Given the description of an element on the screen output the (x, y) to click on. 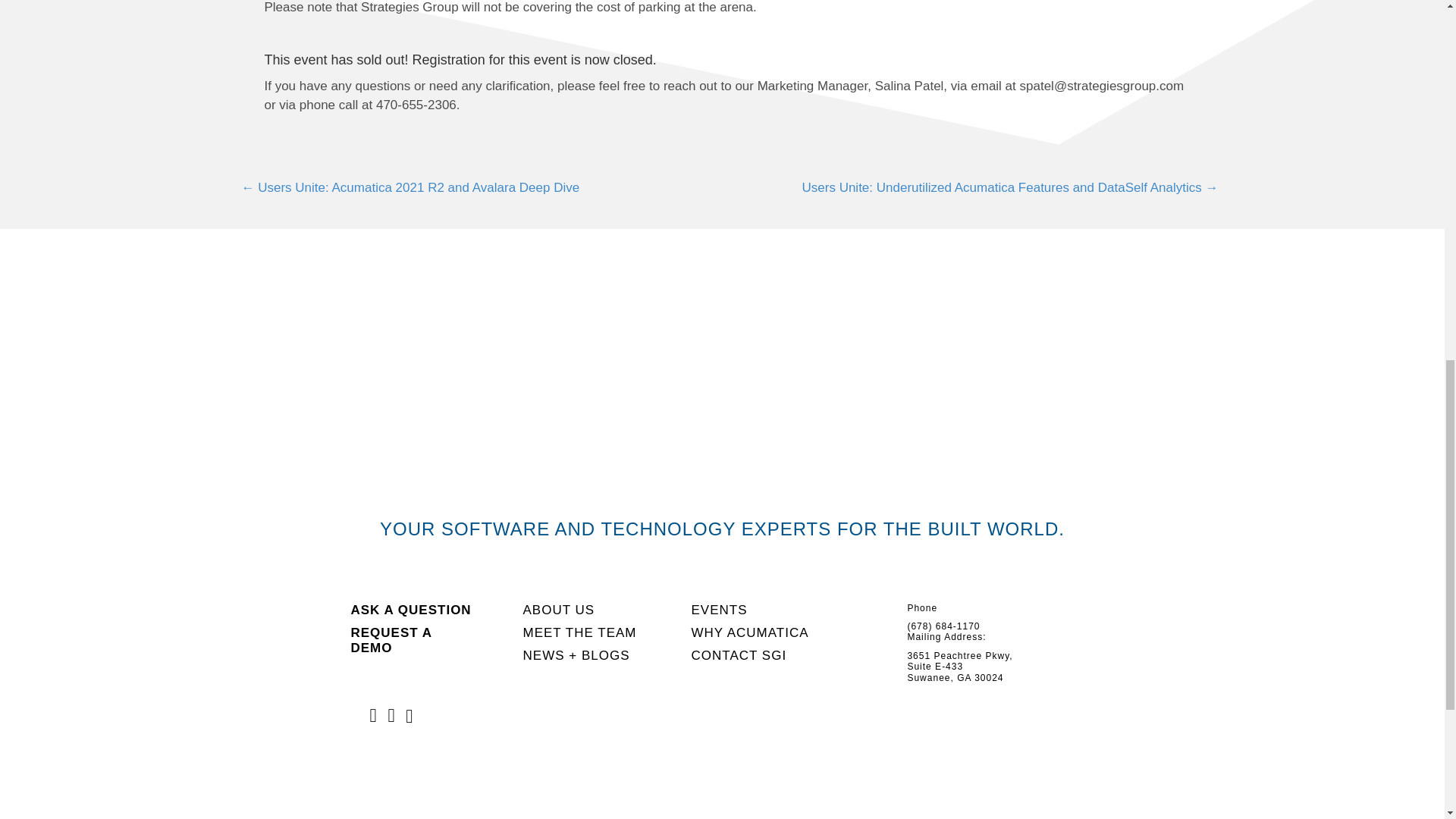
ABOUT US (558, 609)
REQUEST A DEMO (390, 640)
ASK A QUESTION (410, 609)
MEET THE TEAM (579, 632)
WHY ACUMATICA (750, 632)
EVENTS (719, 609)
CONTACT SGI (739, 655)
